Given the description of an element on the screen output the (x, y) to click on. 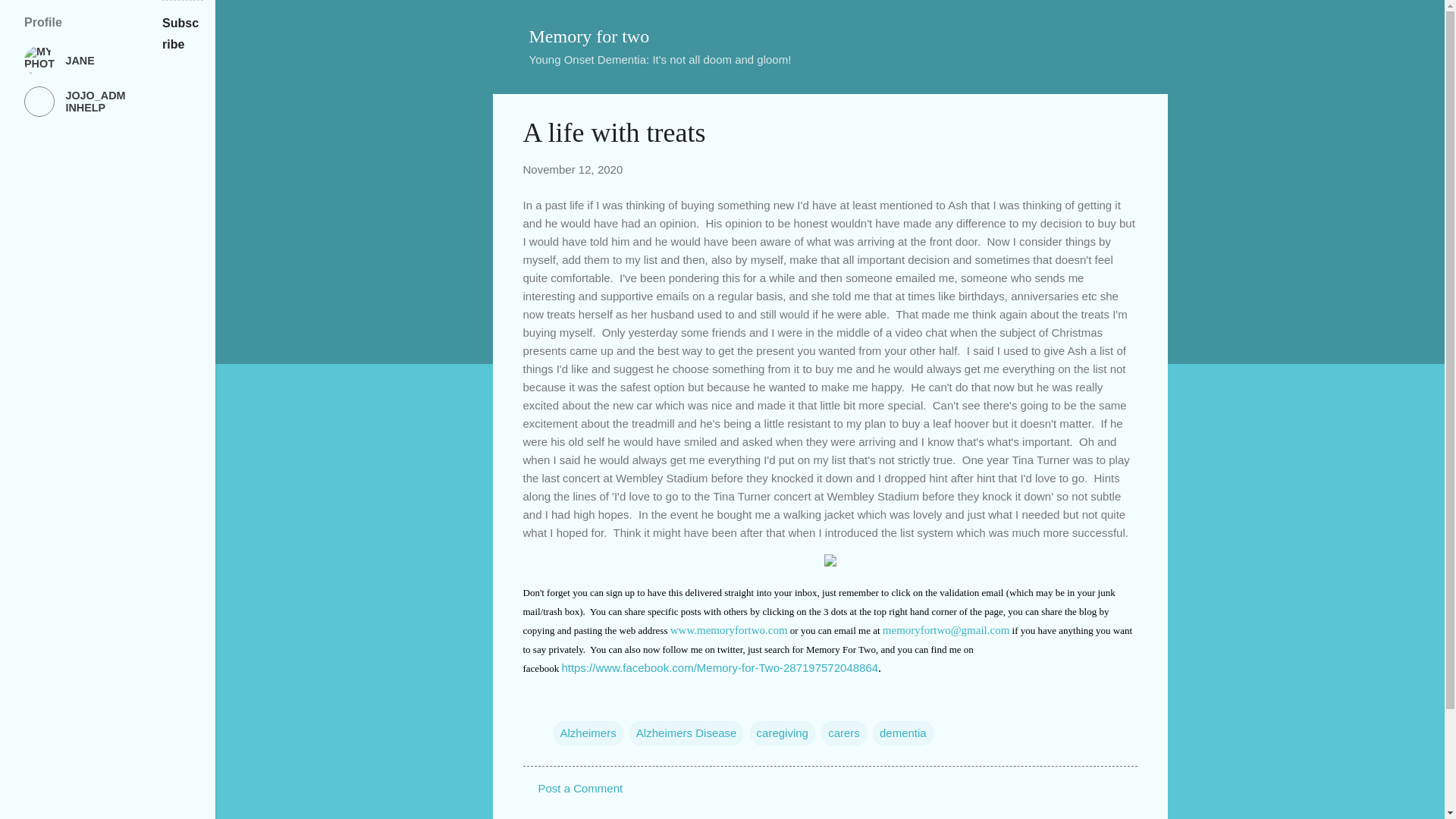
Alzheimers (588, 732)
Memory for two (589, 35)
carers (843, 732)
November 12, 2020 (572, 169)
www.memoryfortwo.com (728, 629)
Alzheimers Disease (686, 732)
Post a Comment (580, 788)
Search (29, 18)
caregiving (782, 732)
permanent link (572, 169)
JANE (74, 60)
dementia (902, 732)
